Given the description of an element on the screen output the (x, y) to click on. 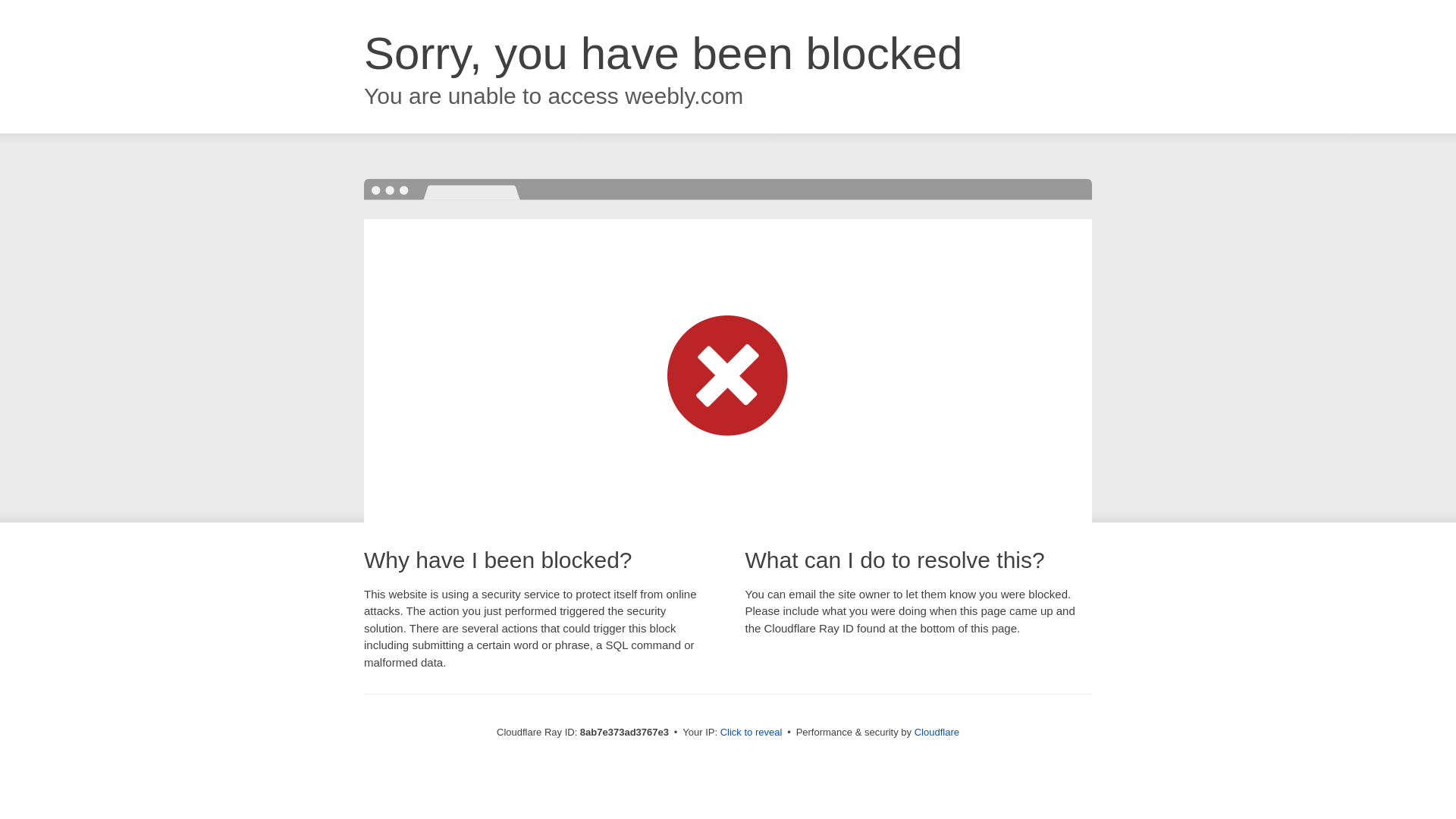
Cloudflare (936, 731)
Click to reveal (751, 732)
